Given the description of an element on the screen output the (x, y) to click on. 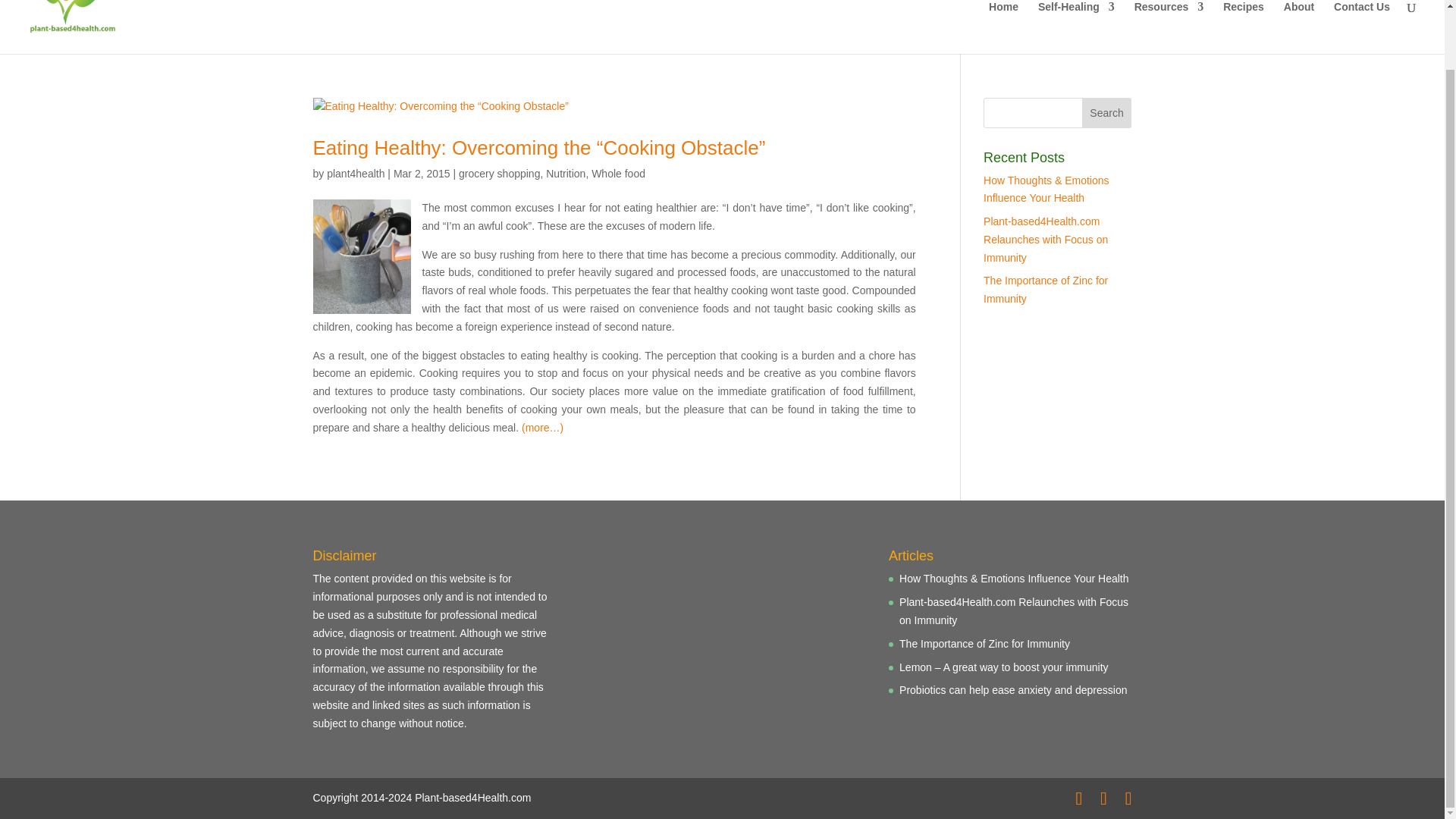
Search (1106, 112)
Contact Us (1361, 27)
Posts by plant4health (355, 173)
Resources (1169, 27)
Self-Healing (1076, 27)
